Given the description of an element on the screen output the (x, y) to click on. 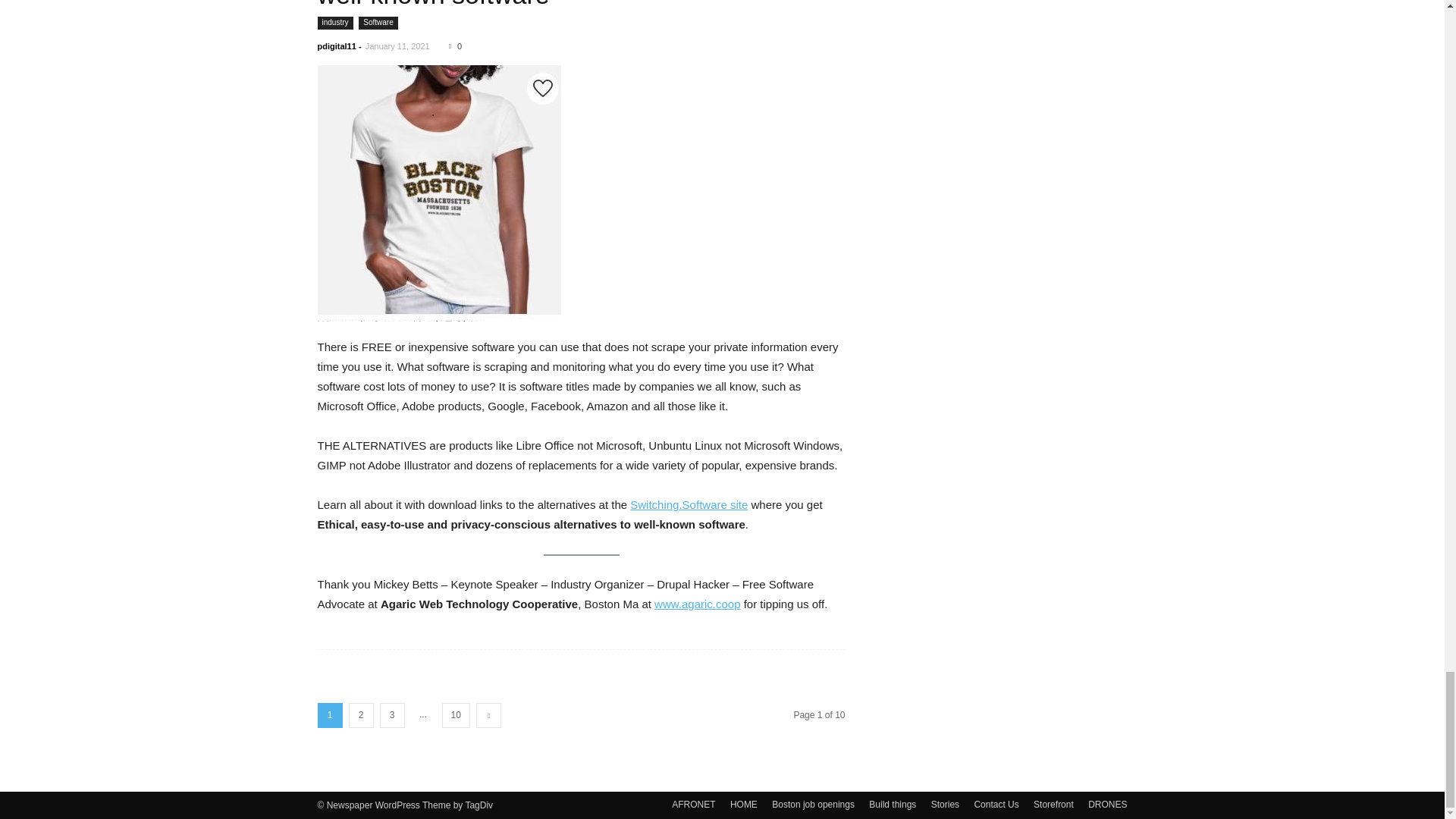
3 (391, 715)
10 (454, 715)
2 (361, 715)
